Given the description of an element on the screen output the (x, y) to click on. 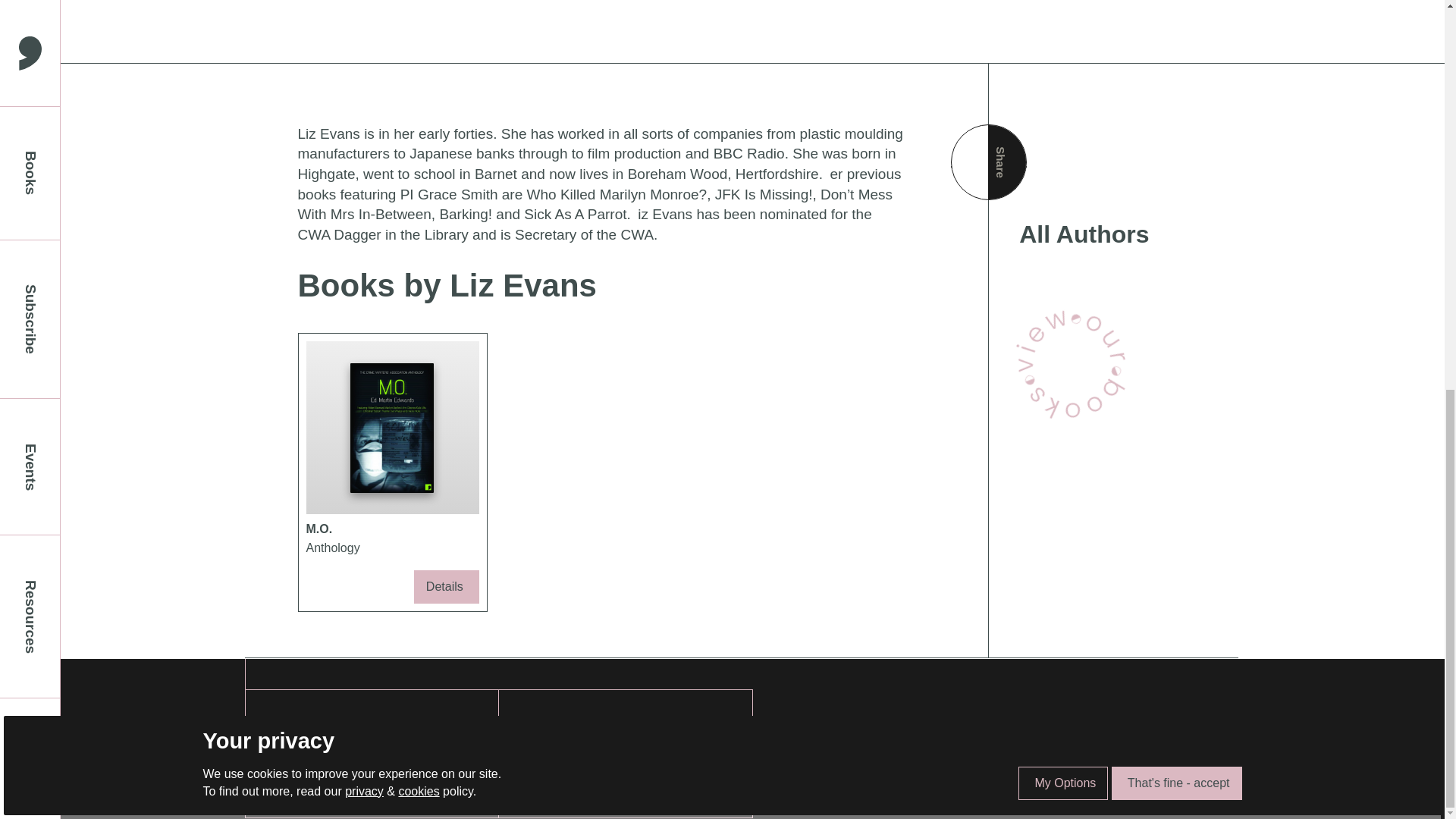
cookies (418, 50)
Twitter (304, 751)
View Our Books (1072, 363)
Instagram (304, 773)
My Options (1062, 41)
privacy (364, 50)
Facebook (304, 729)
That's fine - accept (1176, 41)
All Authors (1113, 234)
